Given the description of an element on the screen output the (x, y) to click on. 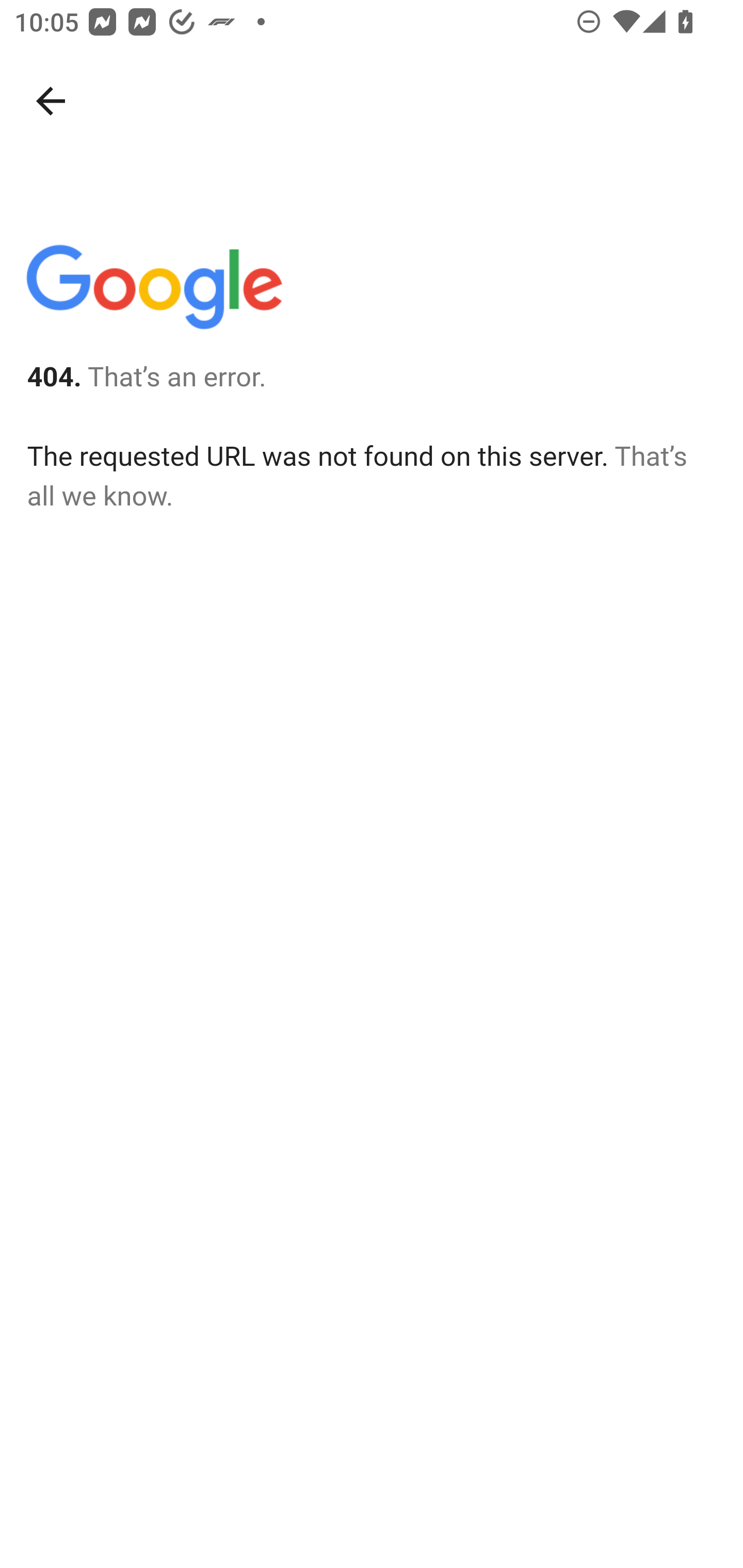
Navigate up (50, 101)
Google (153, 291)
